Given the description of an element on the screen output the (x, y) to click on. 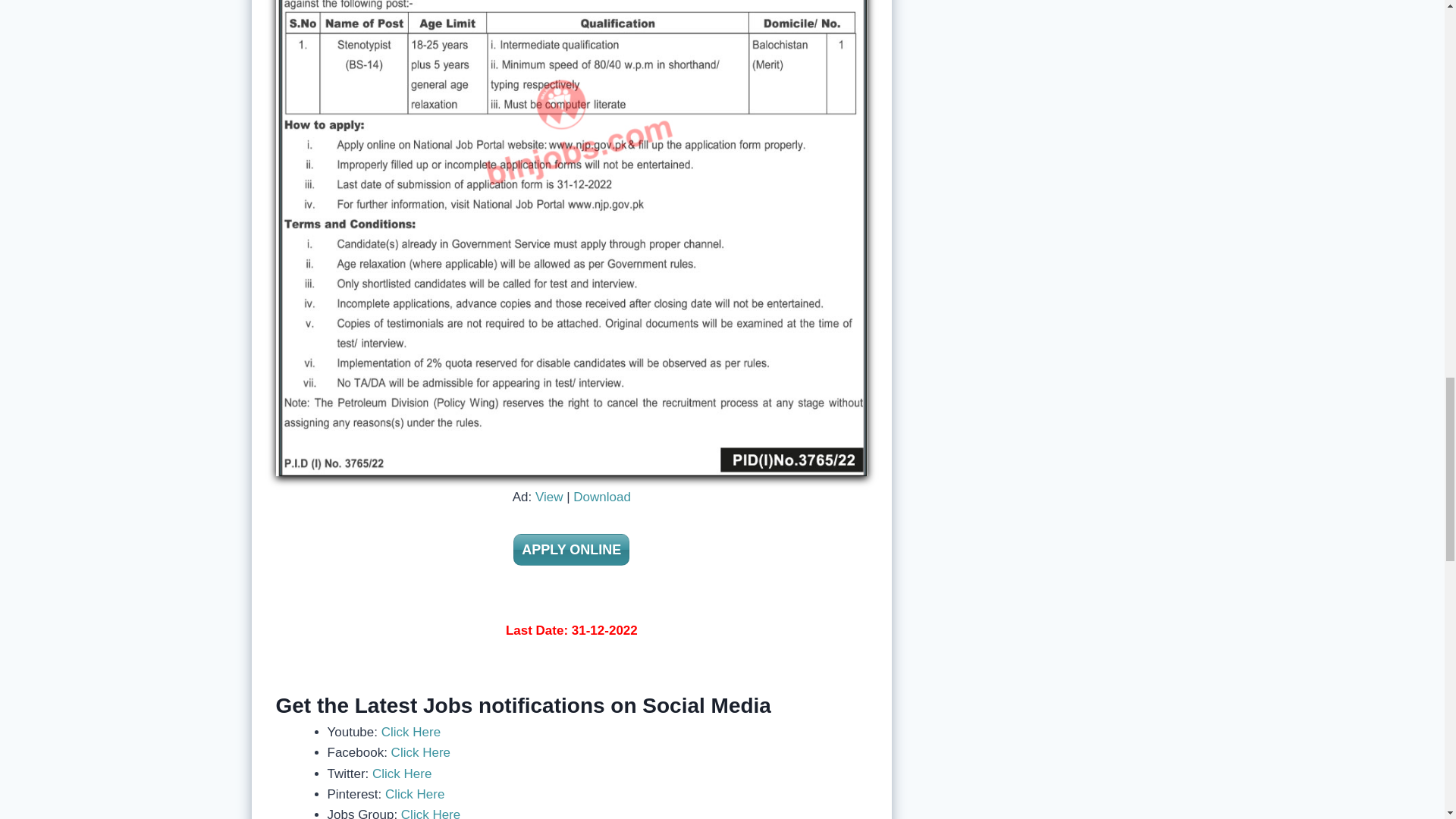
Click Here (409, 731)
Download (601, 496)
View (549, 496)
APPLY ONLINE (570, 549)
